Given the description of an element on the screen output the (x, y) to click on. 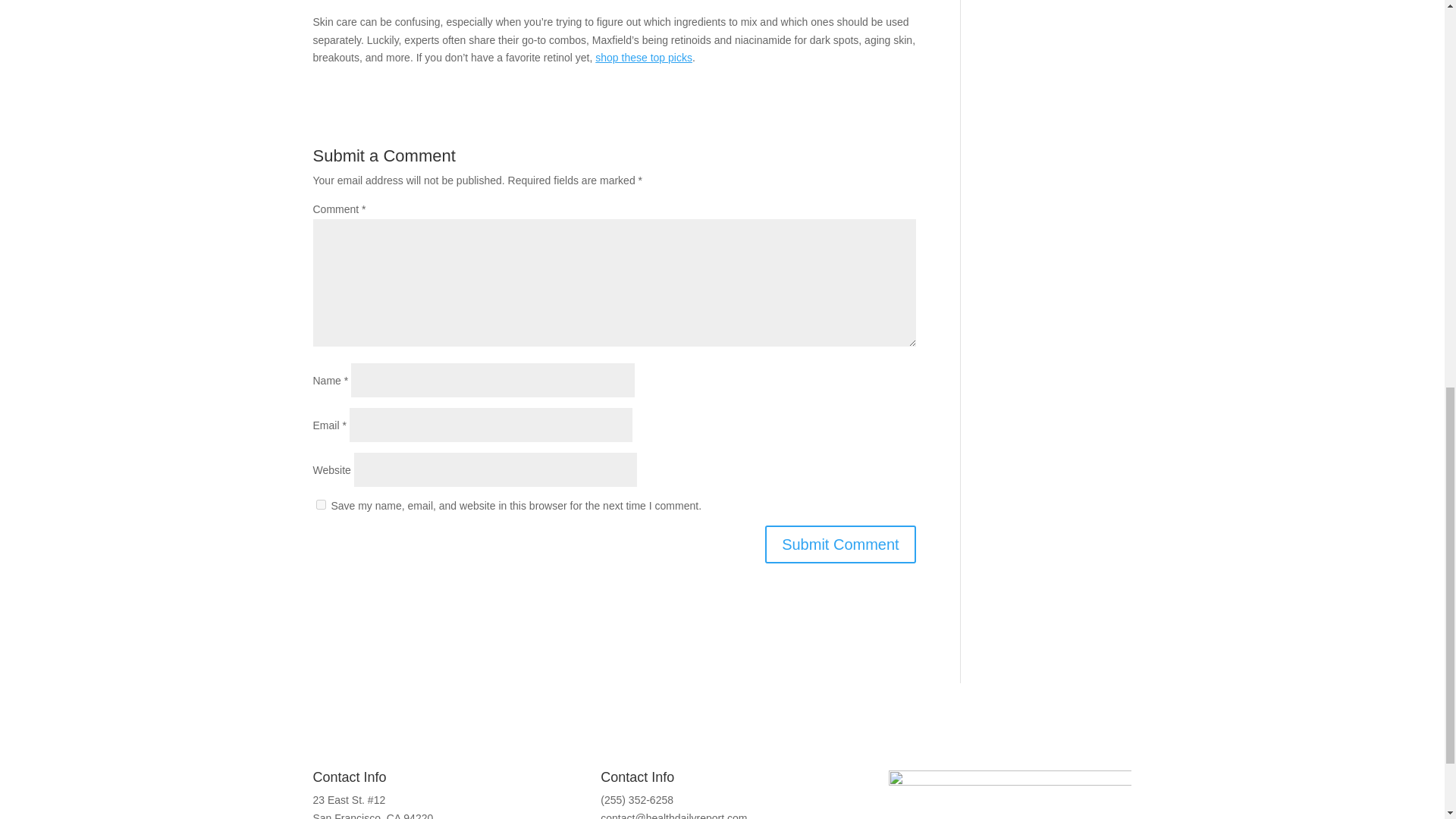
Submit Comment (840, 544)
yes (319, 504)
Submit Comment (840, 544)
shop these top picks (644, 57)
